Given the description of an element on the screen output the (x, y) to click on. 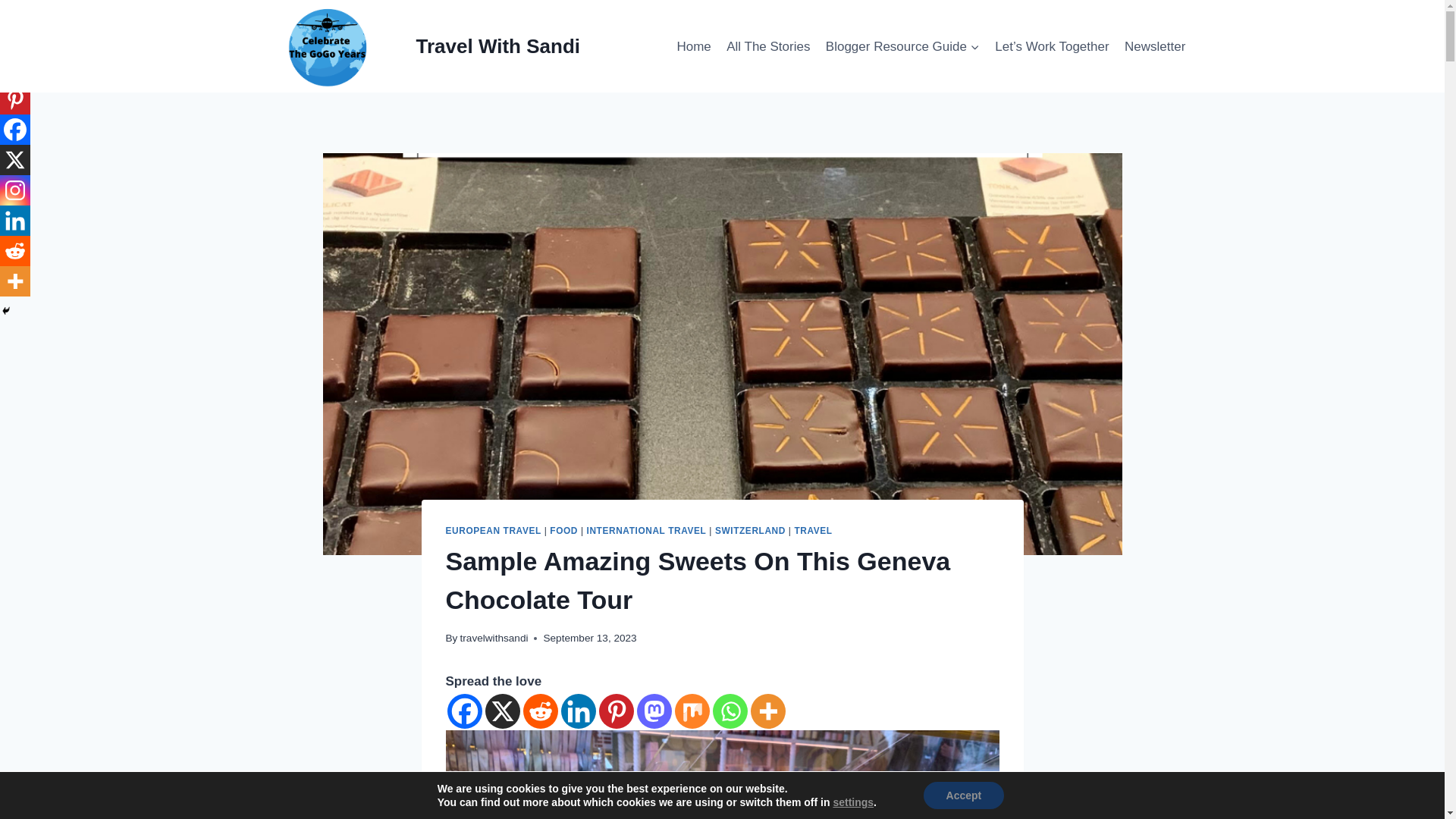
EUROPEAN TRAVEL (493, 529)
Travel With Sandi (415, 46)
X (501, 710)
Mix (692, 710)
Pinterest (615, 710)
Linkedin (577, 710)
Facebook (15, 129)
Linkedin (15, 220)
Mastodon (654, 710)
More (768, 710)
Newsletter (1154, 45)
travelwithsandi (494, 637)
TRAVEL (812, 529)
FOOD (564, 529)
X (15, 159)
